Given the description of an element on the screen output the (x, y) to click on. 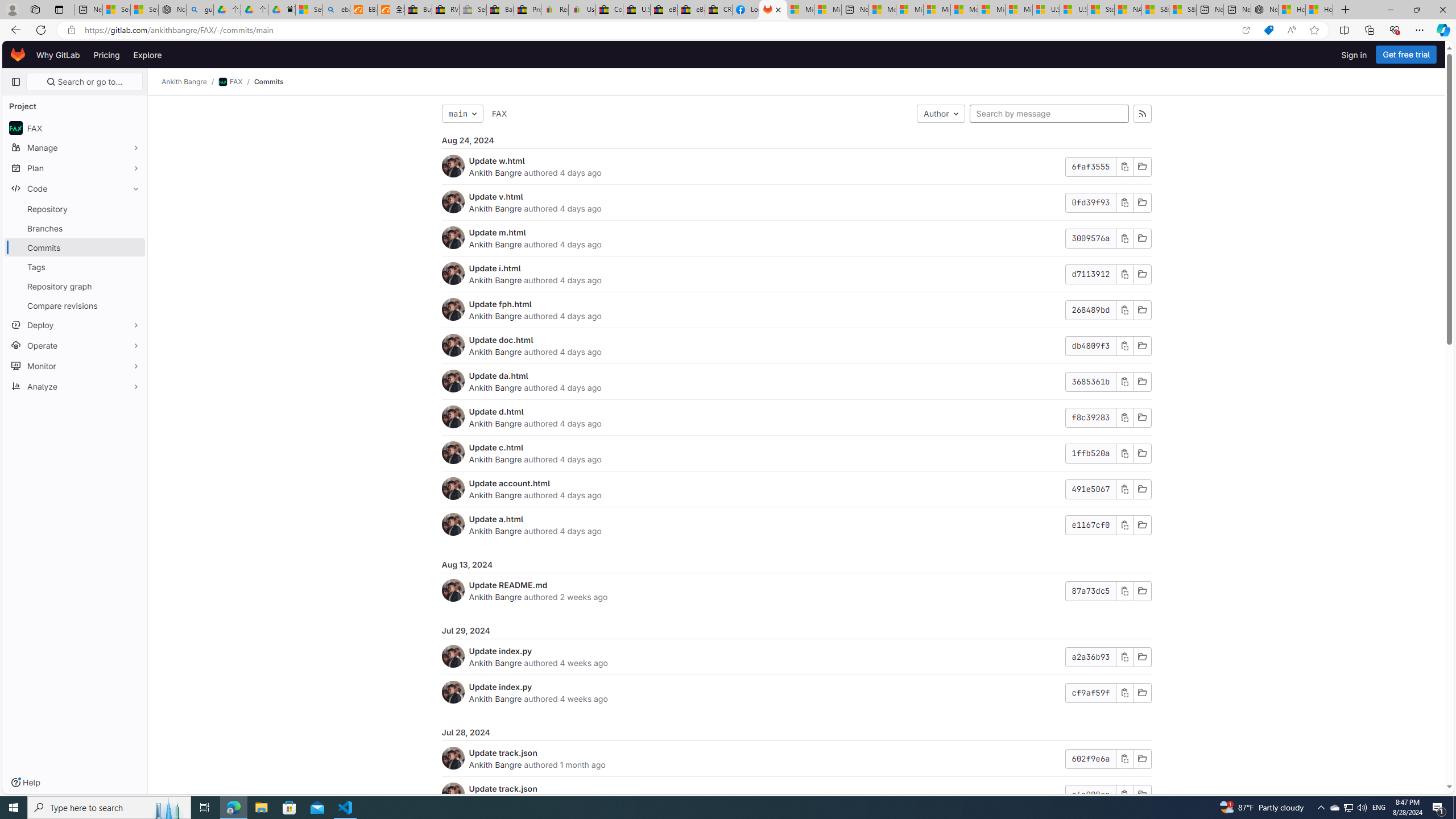
Update README.md (507, 584)
App bar (728, 29)
Manage (74, 147)
Branches (74, 227)
Class: s16 (1142, 794)
Update i.htmlAnkith Bangre authored 4 days agod7113912 (796, 274)
Update account.html (509, 483)
Ankith Bangre's avatar (452, 793)
Copy commit SHA (1124, 794)
Microsoft account | Home (936, 9)
Jul 29, 2024 (796, 630)
Operate (74, 344)
Update track.jsonAnkith Bangre authored 1 month agoc6a008ac (796, 794)
